Given the description of an element on the screen output the (x, y) to click on. 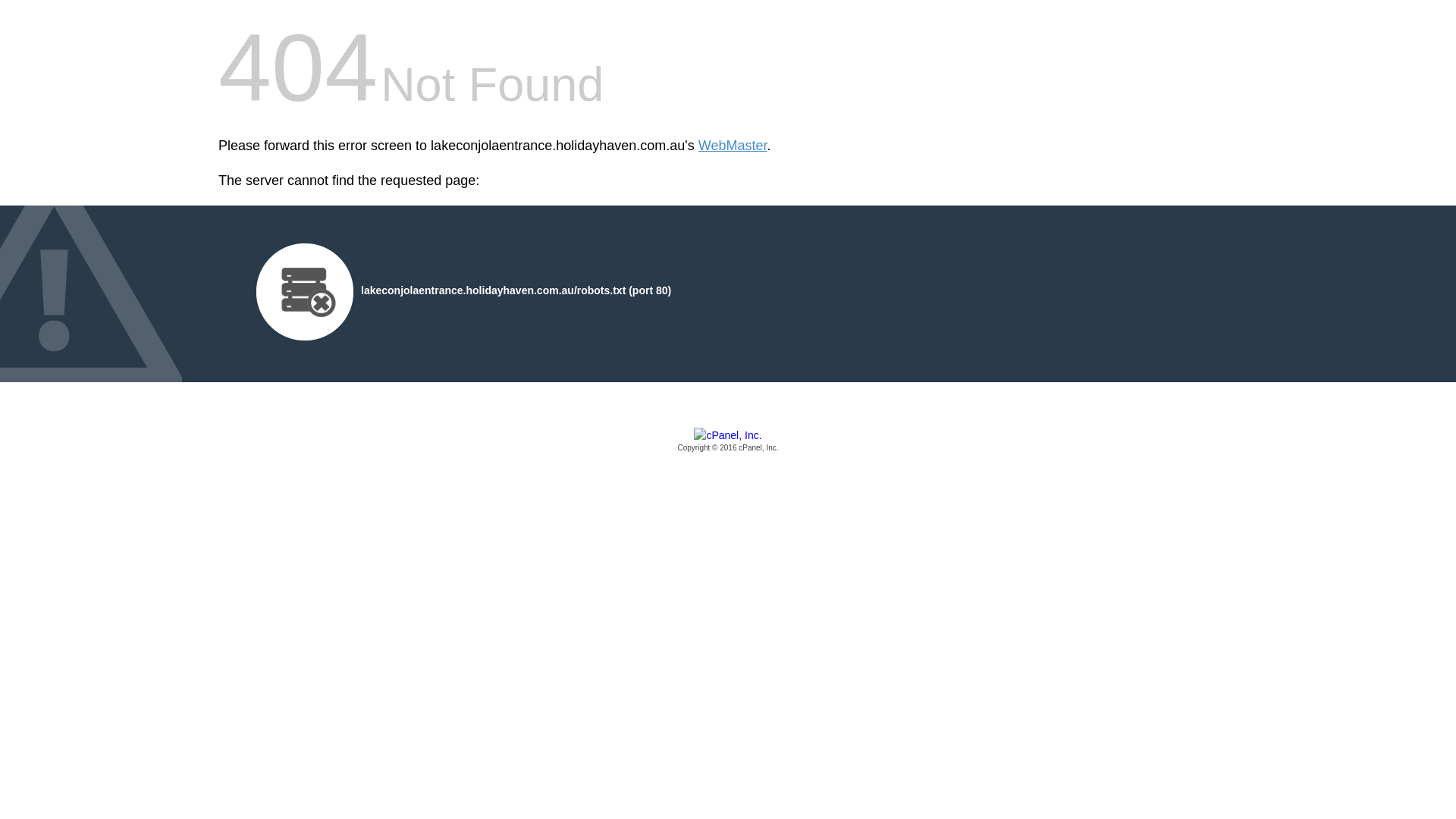
WebMaster Element type: text (732, 145)
